Given the description of an element on the screen output the (x, y) to click on. 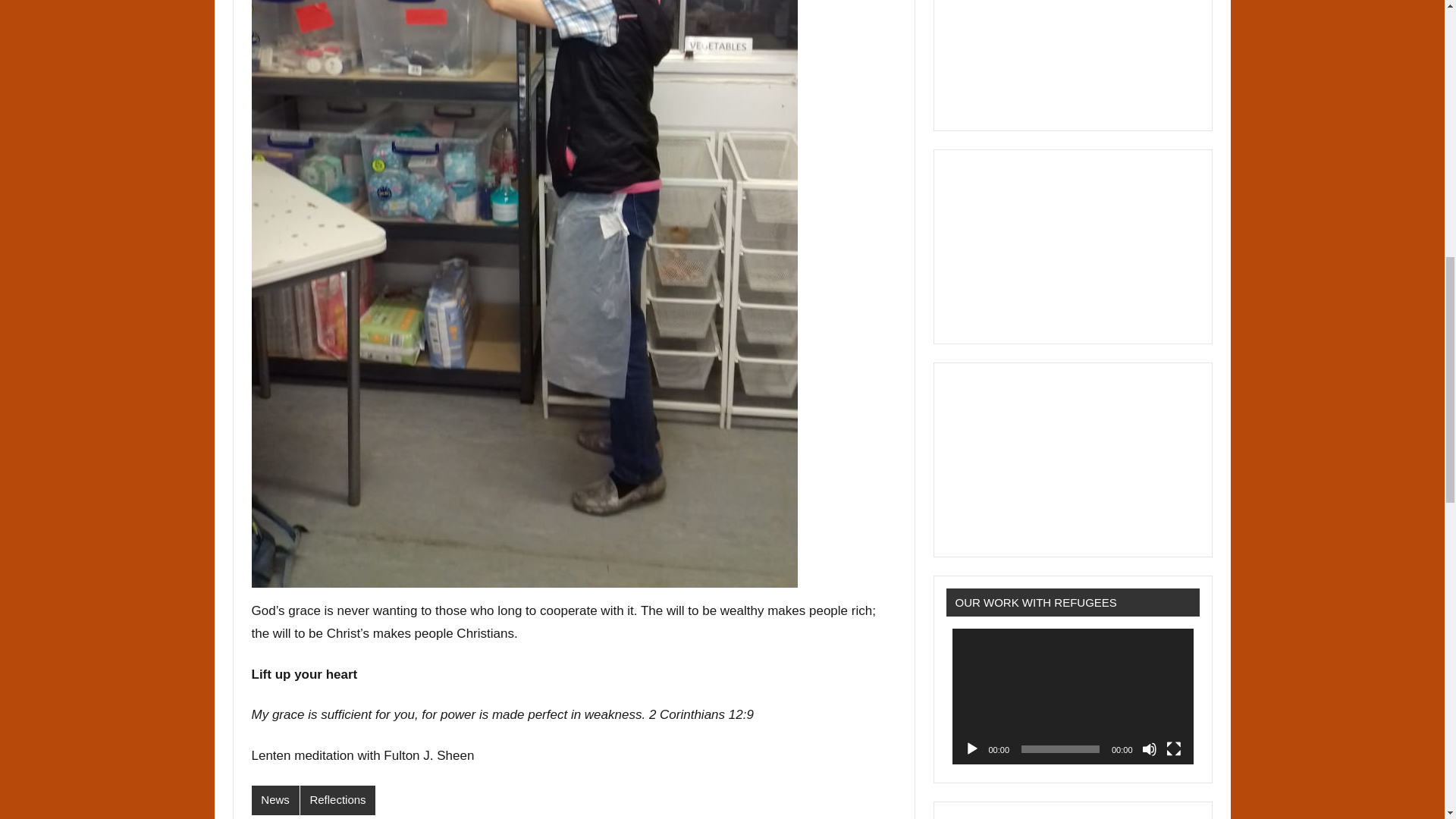
Fullscreen (1173, 749)
Your Story Matters  -  Sr. Meinar Nahak SSpS (1072, 448)
News (275, 799)
World Mission Sunday 2023 (1072, 235)
Mute (1149, 749)
Play (971, 749)
Saint Brigid of Ireland : A Beacon of Faith (1072, 45)
Reflections (337, 799)
